Given the description of an element on the screen output the (x, y) to click on. 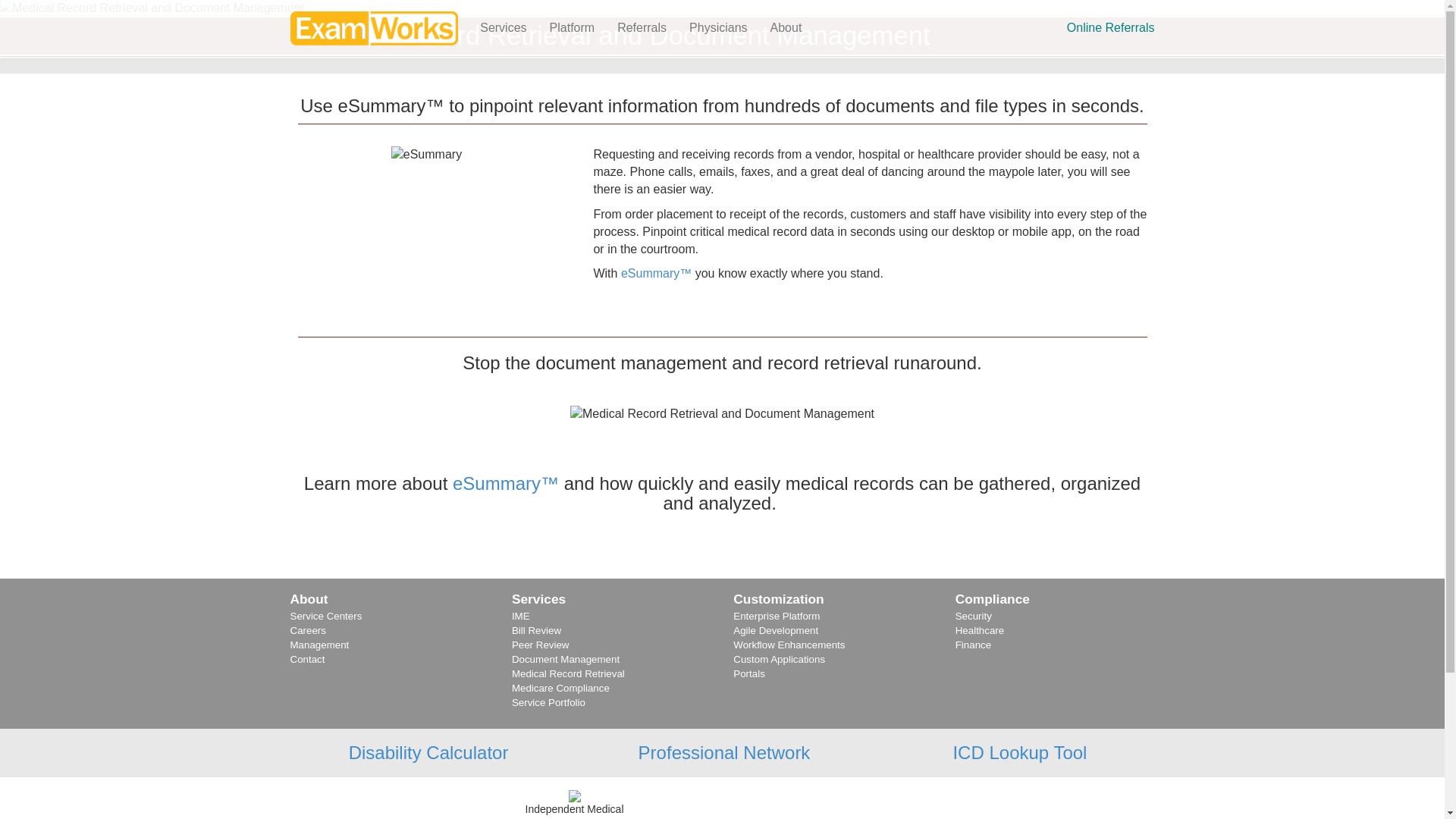
About (785, 28)
Online Referrals (1110, 28)
Physicians (718, 28)
ABI Document Support Services (505, 483)
About (308, 599)
Services (502, 28)
Referrals (641, 28)
Platform (572, 28)
eSummary (656, 273)
